Given the description of an element on the screen output the (x, y) to click on. 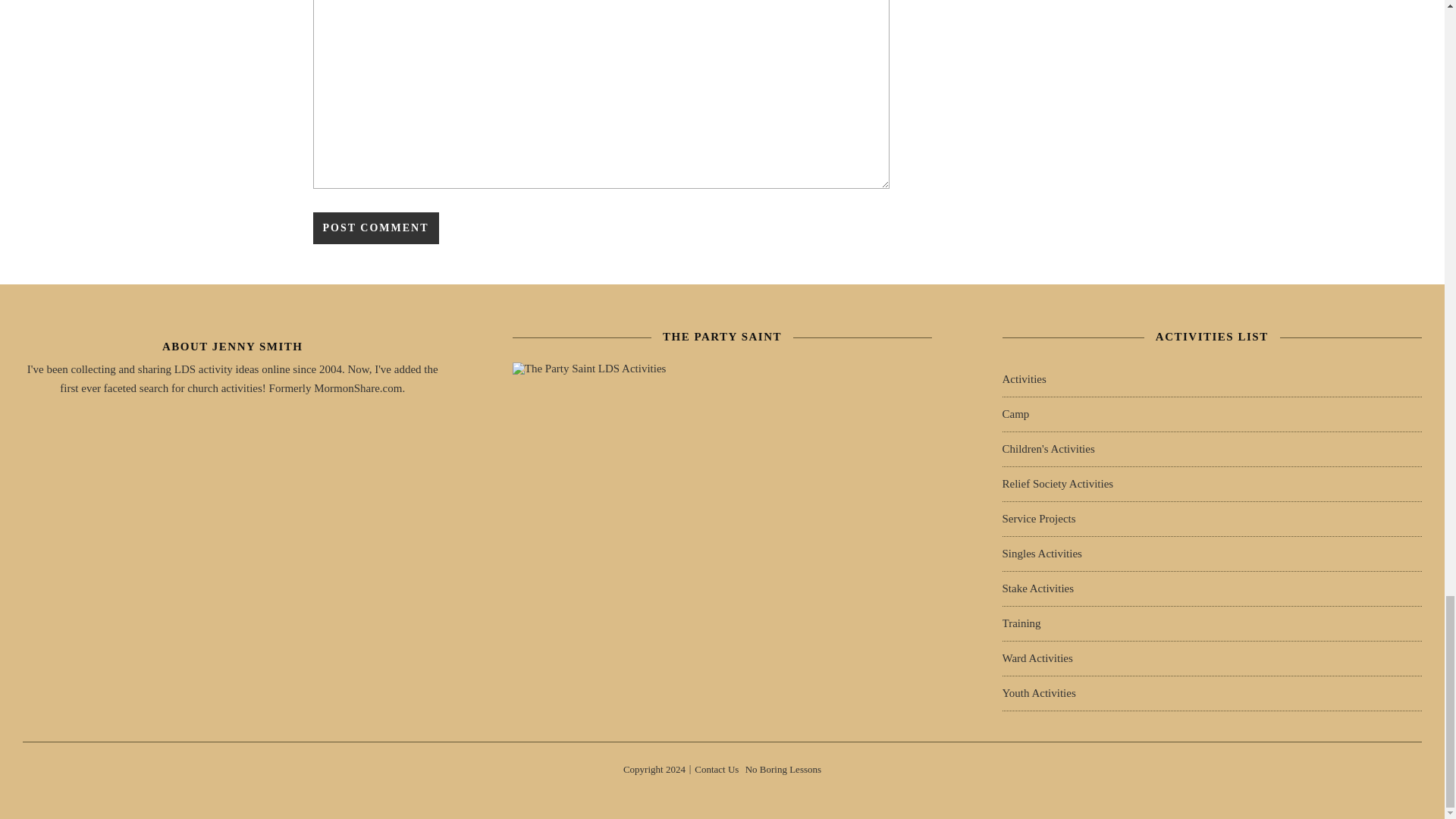
Service project ideas (1039, 519)
Activities for Children (1048, 449)
Activities that are effective for singles. (1042, 553)
Camp Related activities for boys and girls. (1016, 414)
Post Comment (375, 228)
